Given the description of an element on the screen output the (x, y) to click on. 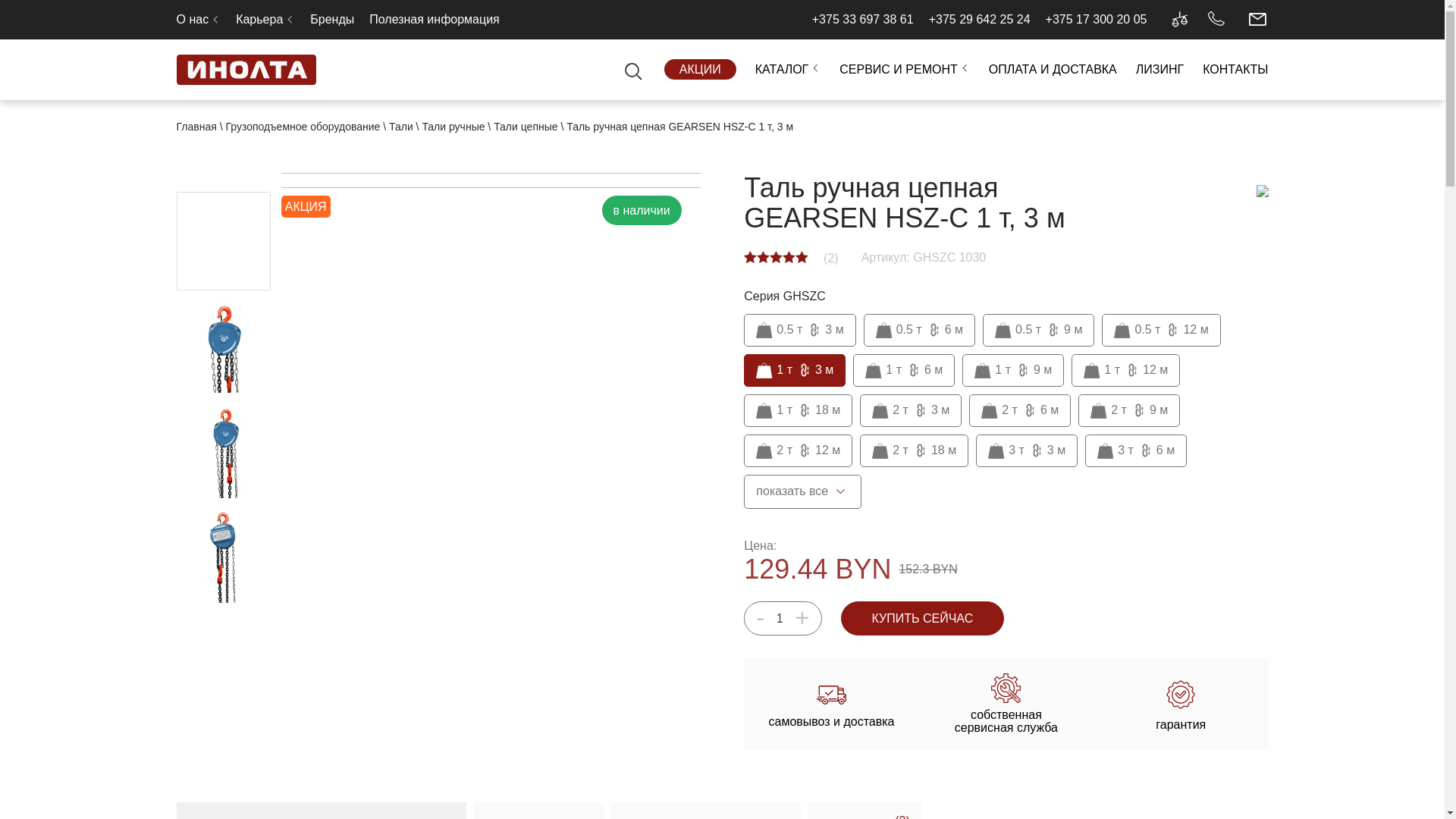
+375 29 642 25 24 Element type: text (979, 19)
+375 33 697 38 61 Element type: text (862, 19)
+375 17 300 20 05 Element type: text (1096, 19)
